Given the description of an element on the screen output the (x, y) to click on. 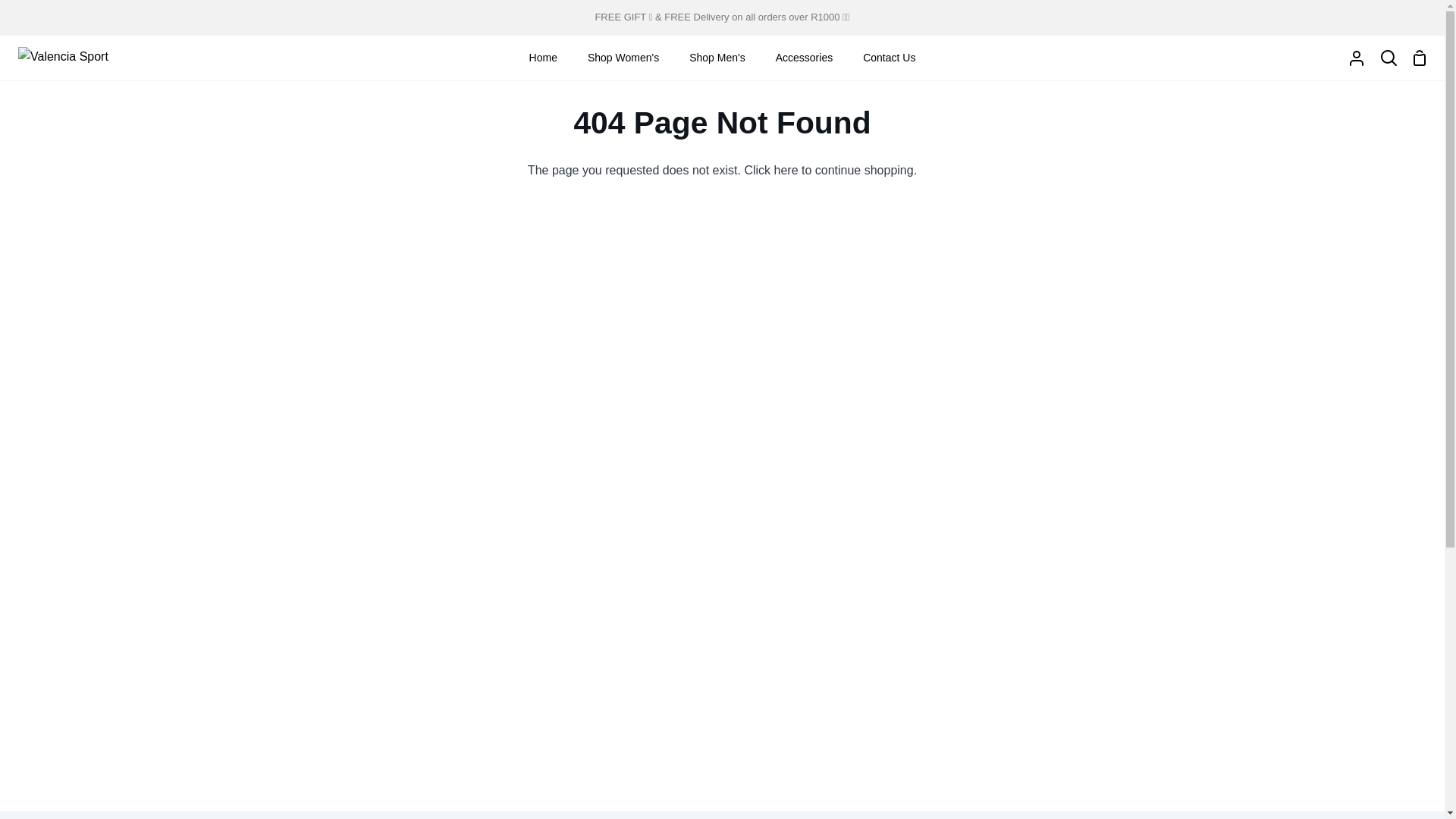
Shop Women's (623, 58)
Home (542, 58)
Accessories (803, 58)
Contact Us (888, 58)
Shop Men's (717, 58)
